Given the description of an element on the screen output the (x, y) to click on. 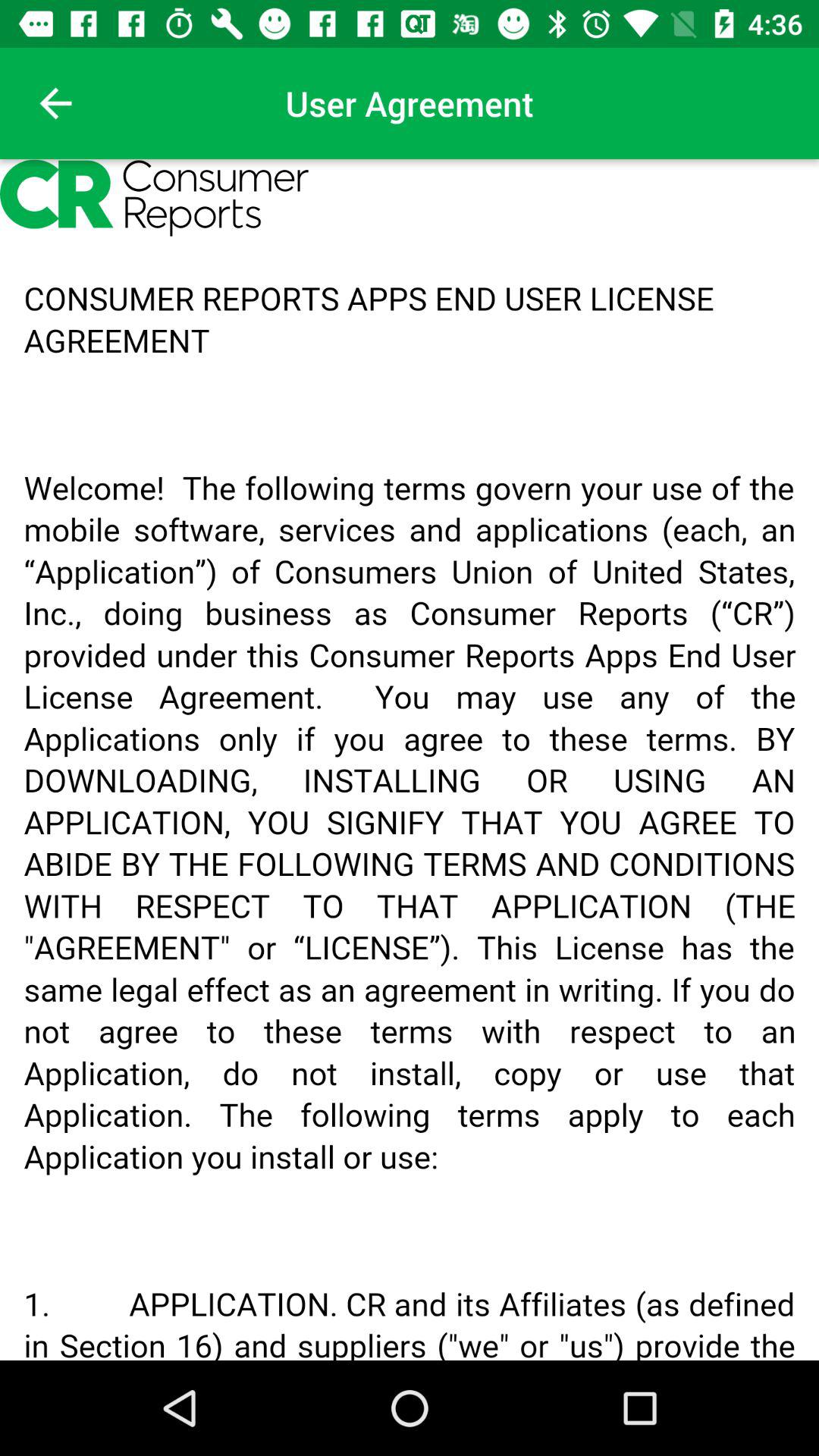
advertisement (409, 759)
